Given the description of an element on the screen output the (x, y) to click on. 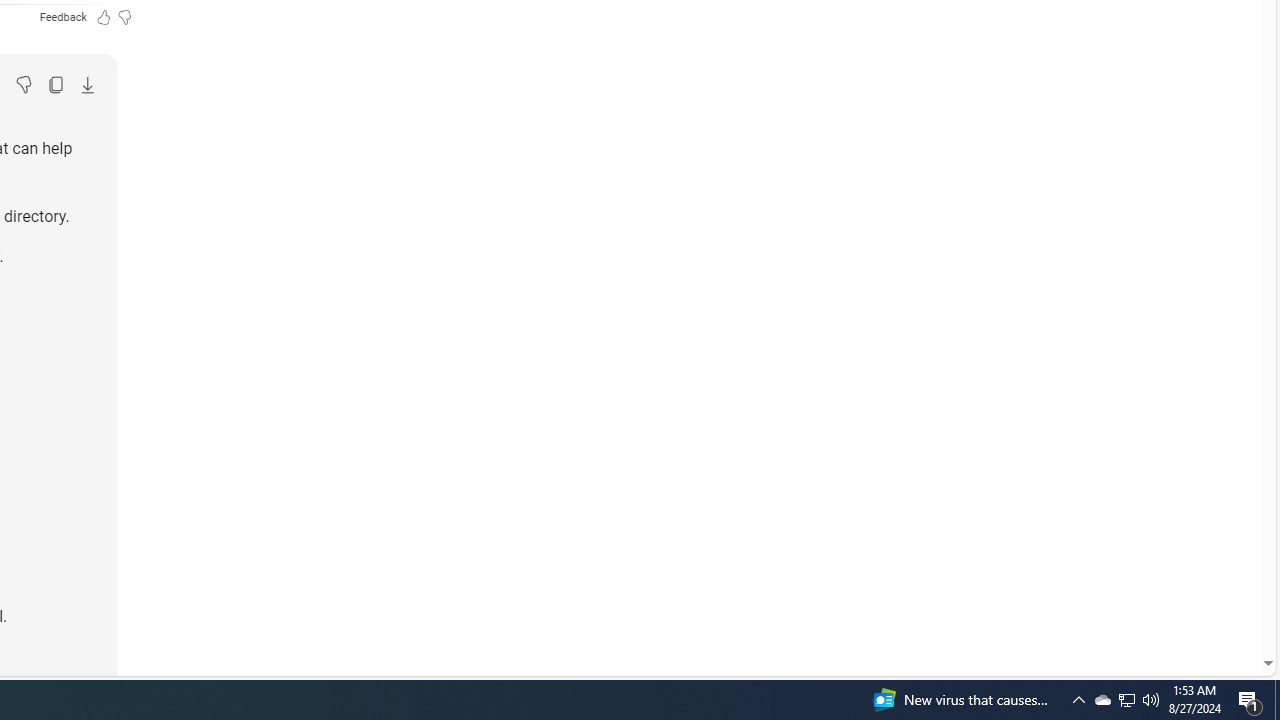
Copy (55, 84)
Dislike (23, 84)
Search more (1222, 604)
Export (87, 84)
Feedback Dislike (123, 16)
Feedback Like (103, 16)
AutomationID: mfa_root (1192, 603)
